Given the description of an element on the screen output the (x, y) to click on. 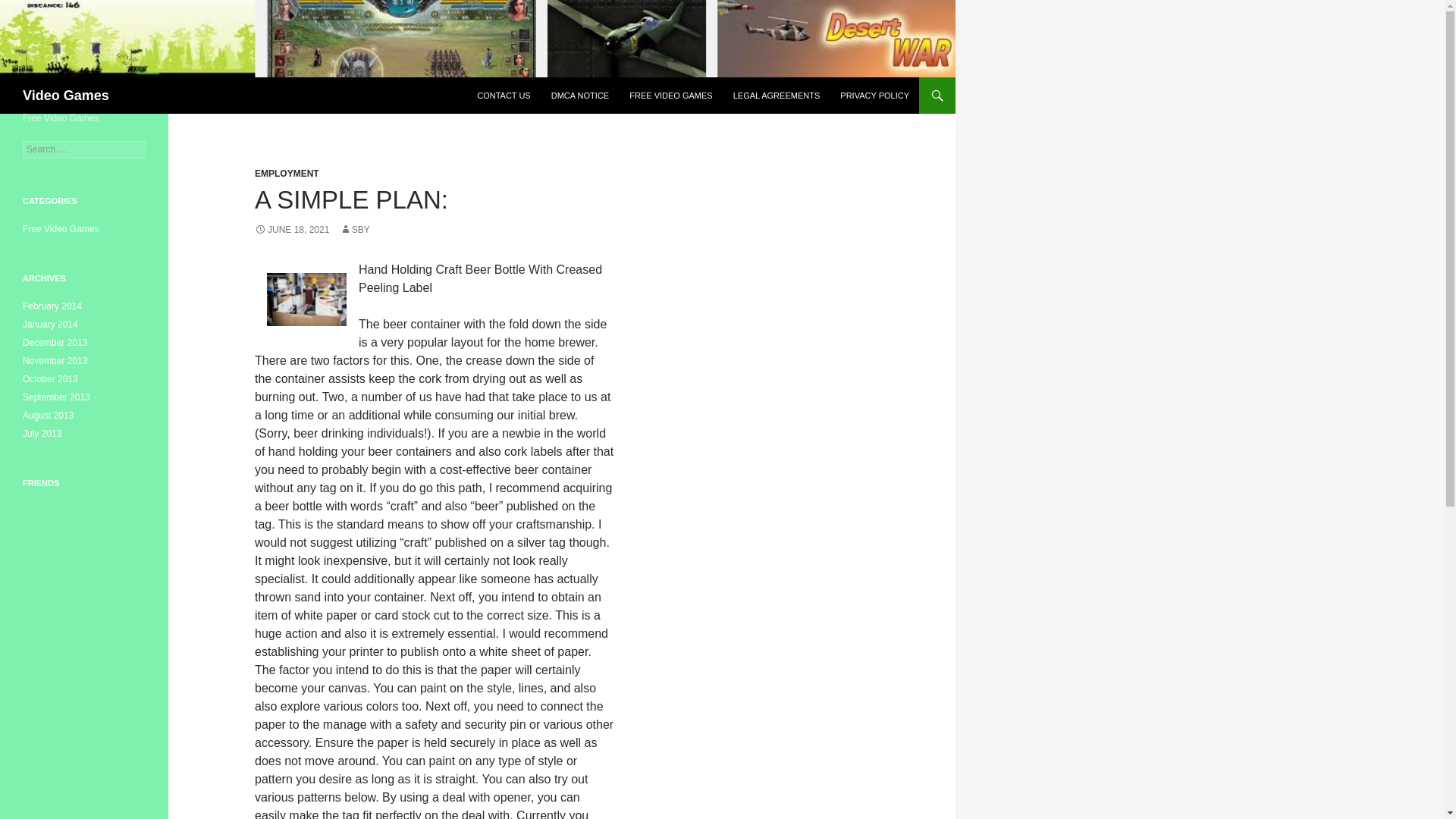
LEGAL AGREEMENTS (776, 94)
February 2014 (52, 306)
DMCA NOTICE (579, 94)
Search (30, 8)
September 2013 (56, 397)
JUNE 18, 2021 (291, 229)
EMPLOYMENT (286, 173)
FREE VIDEO GAMES (670, 94)
August 2013 (48, 415)
